Given the description of an element on the screen output the (x, y) to click on. 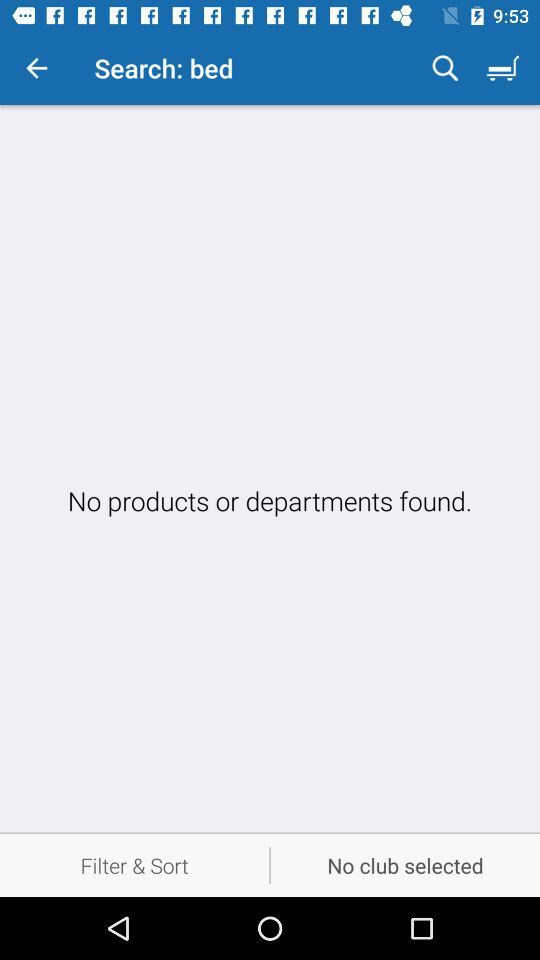
choose the icon next to the search: bed icon (445, 68)
